Given the description of an element on the screen output the (x, y) to click on. 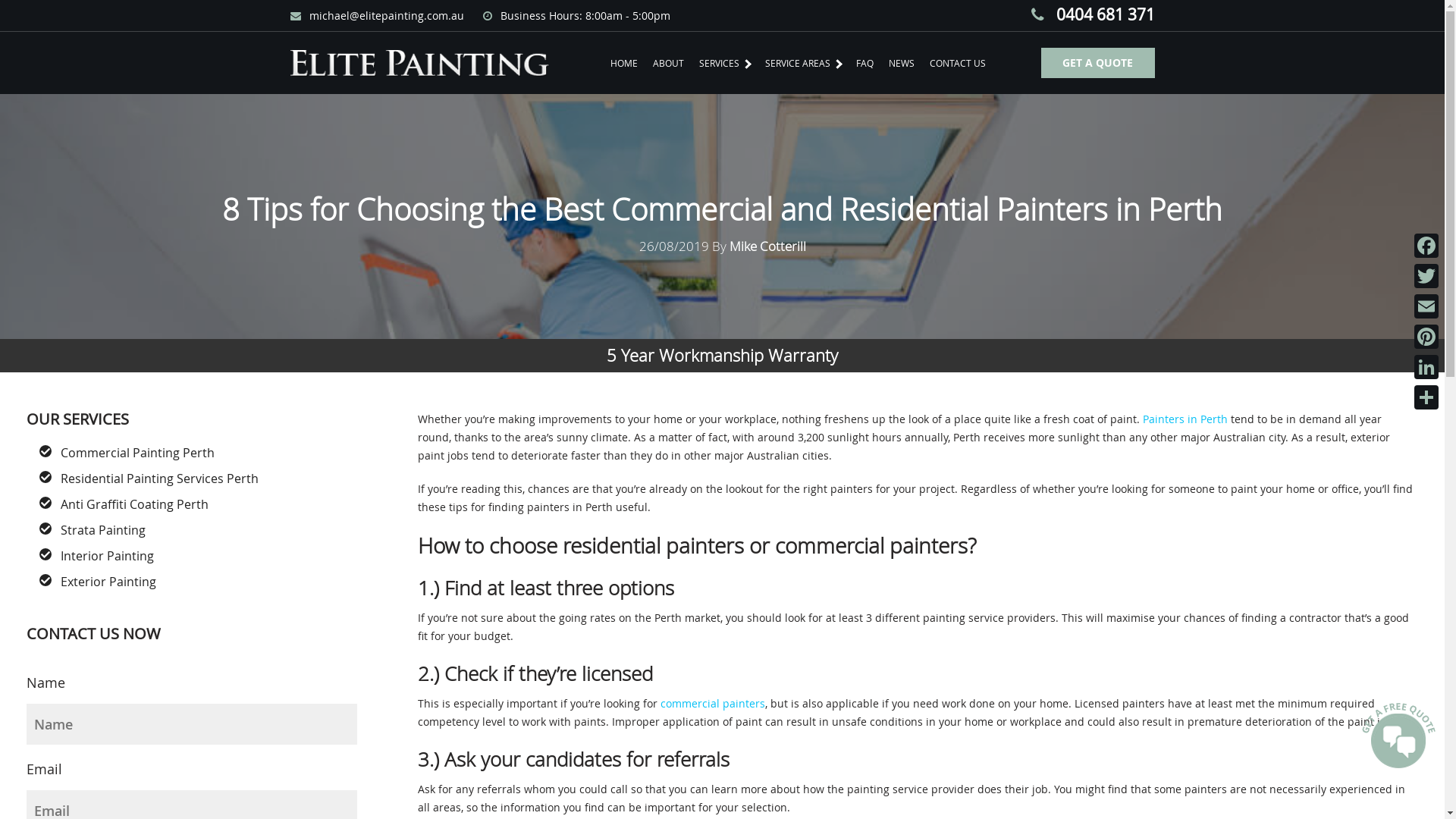
NEWS Element type: text (901, 62)
LinkedIn Element type: text (1426, 366)
Email Element type: text (1426, 306)
Mike Cotterill Element type: text (767, 245)
Commercial Painting Perth Element type: text (137, 452)
FAQ Element type: text (864, 62)
Strata Painting Element type: text (102, 529)
ABOUT Element type: text (668, 62)
CONTACT US Element type: text (957, 62)
Share Element type: text (1426, 397)
commercial painters Element type: text (712, 703)
Residential Painting Services Perth Element type: text (159, 478)
Facebook Element type: text (1426, 245)
SERVICE AREAS Element type: text (802, 62)
GET A QUOTE Element type: text (1097, 62)
0404 681 371 Element type: text (1092, 14)
Anti Graffiti Coating Perth Element type: text (134, 503)
Pinterest Element type: text (1426, 336)
michael@elitepainting.com.au Element type: text (377, 14)
Exterior Painting Element type: text (108, 581)
Twitter Element type: text (1426, 275)
Painters in Perth Element type: text (1184, 418)
ELITE PAINTING Element type: hover (419, 63)
Interior Painting Element type: text (106, 555)
HOME Element type: text (623, 62)
SERVICES Element type: text (724, 62)
